Given the description of an element on the screen output the (x, y) to click on. 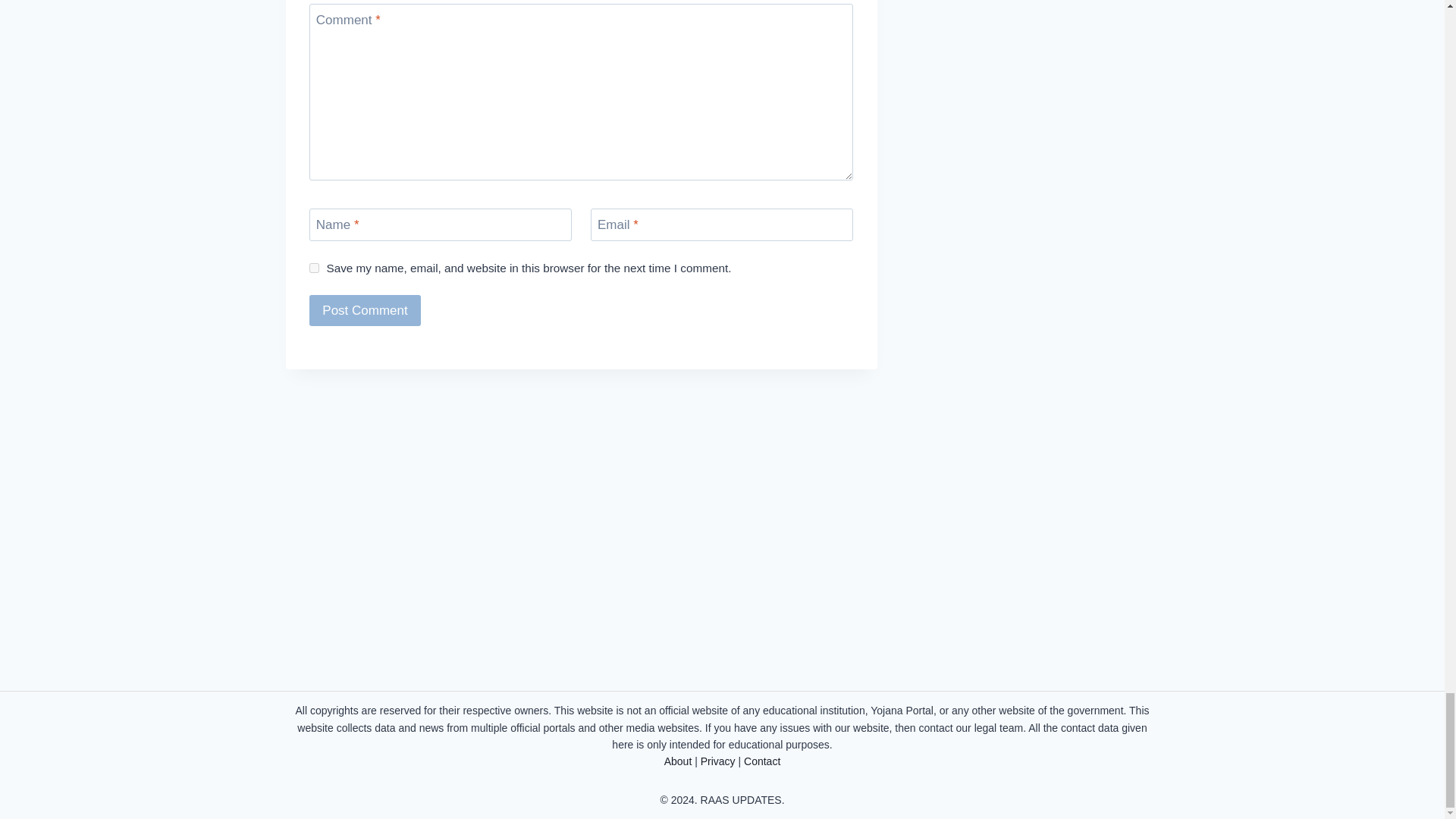
Post Comment (364, 309)
Post Comment (364, 309)
yes (313, 267)
